Given the description of an element on the screen output the (x, y) to click on. 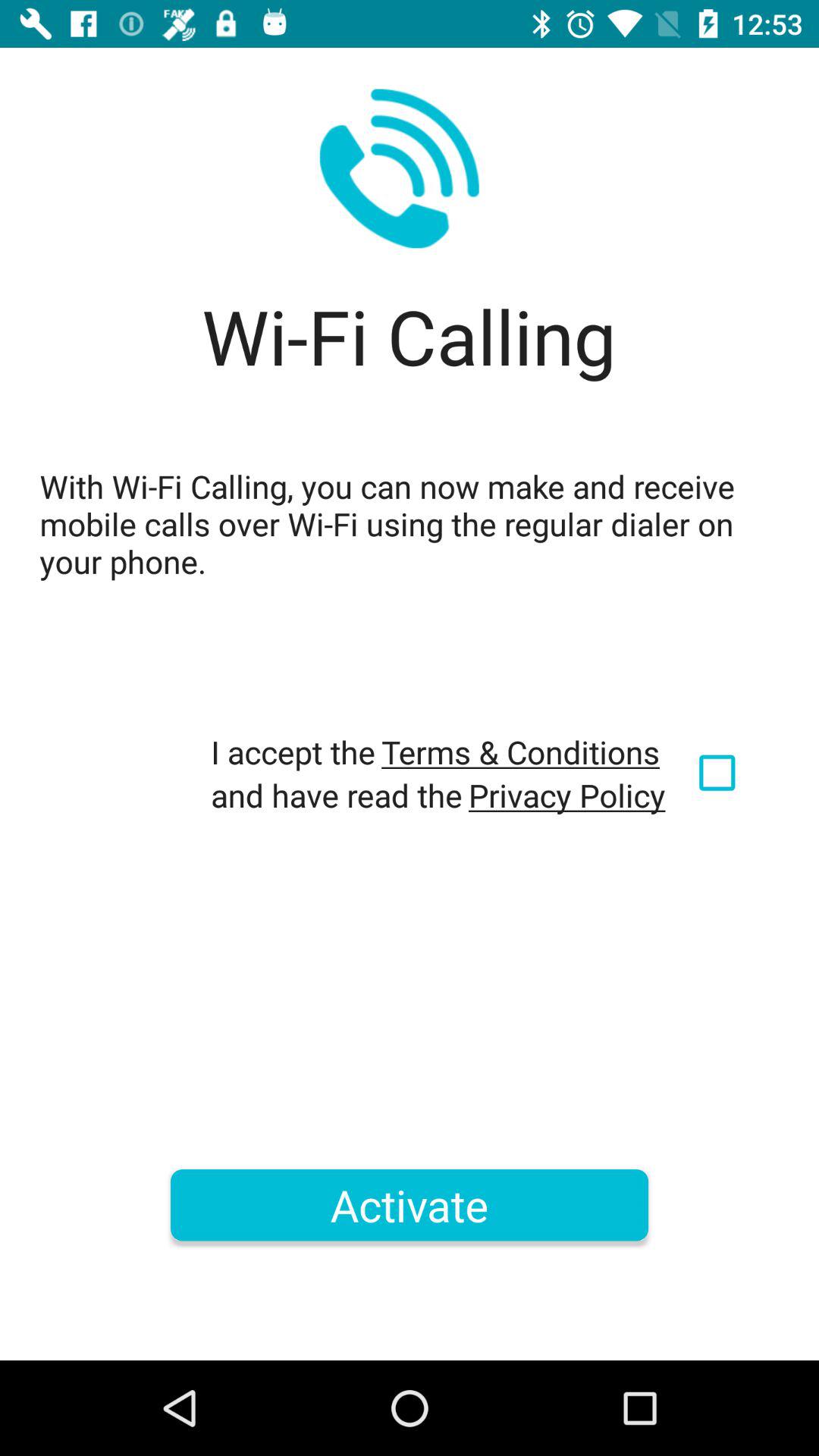
flip to the activate icon (409, 1205)
